Given the description of an element on the screen output the (x, y) to click on. 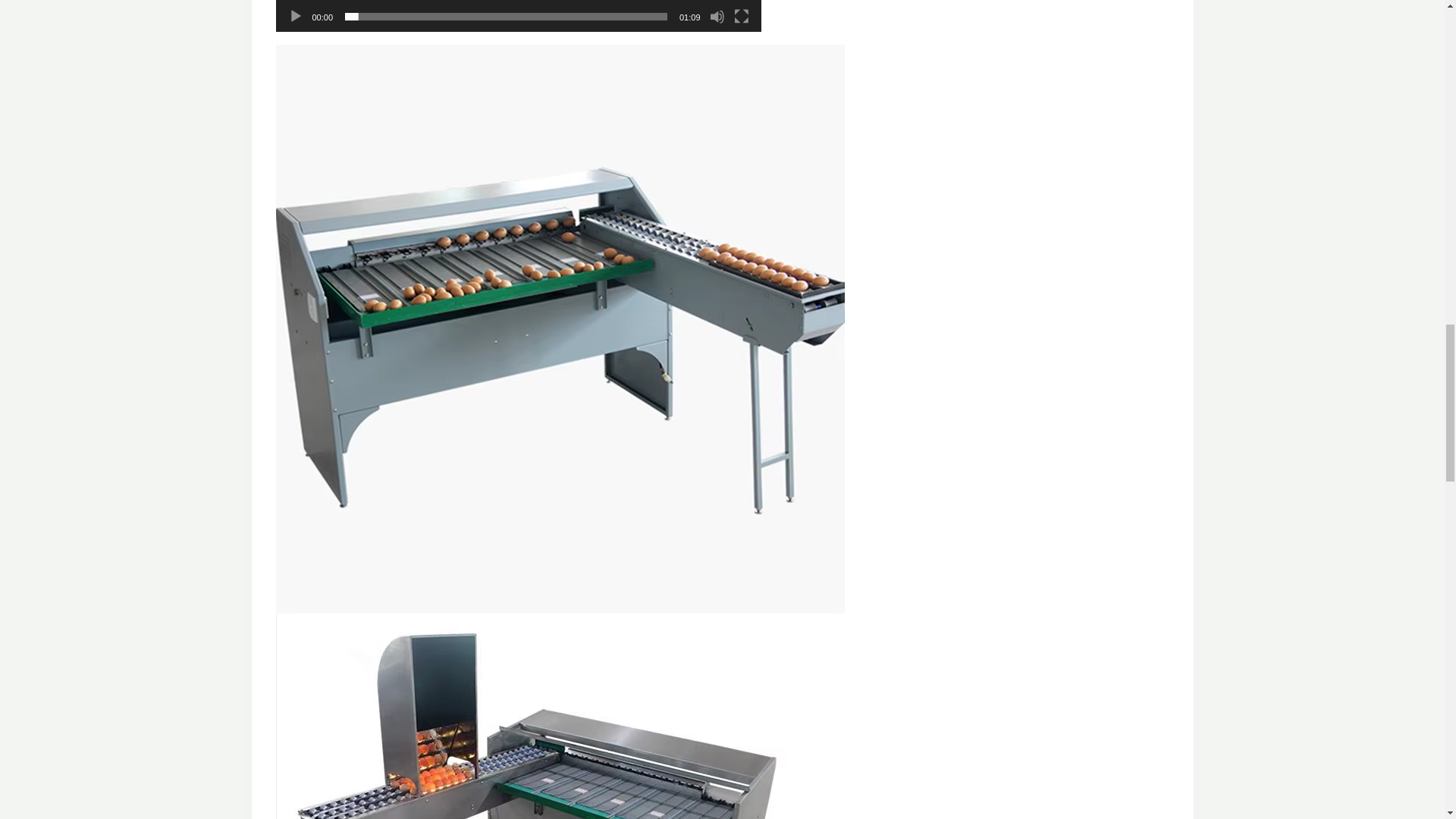
Play (295, 16)
Fullscreen (741, 16)
Mute (717, 16)
